Given the description of an element on the screen output the (x, y) to click on. 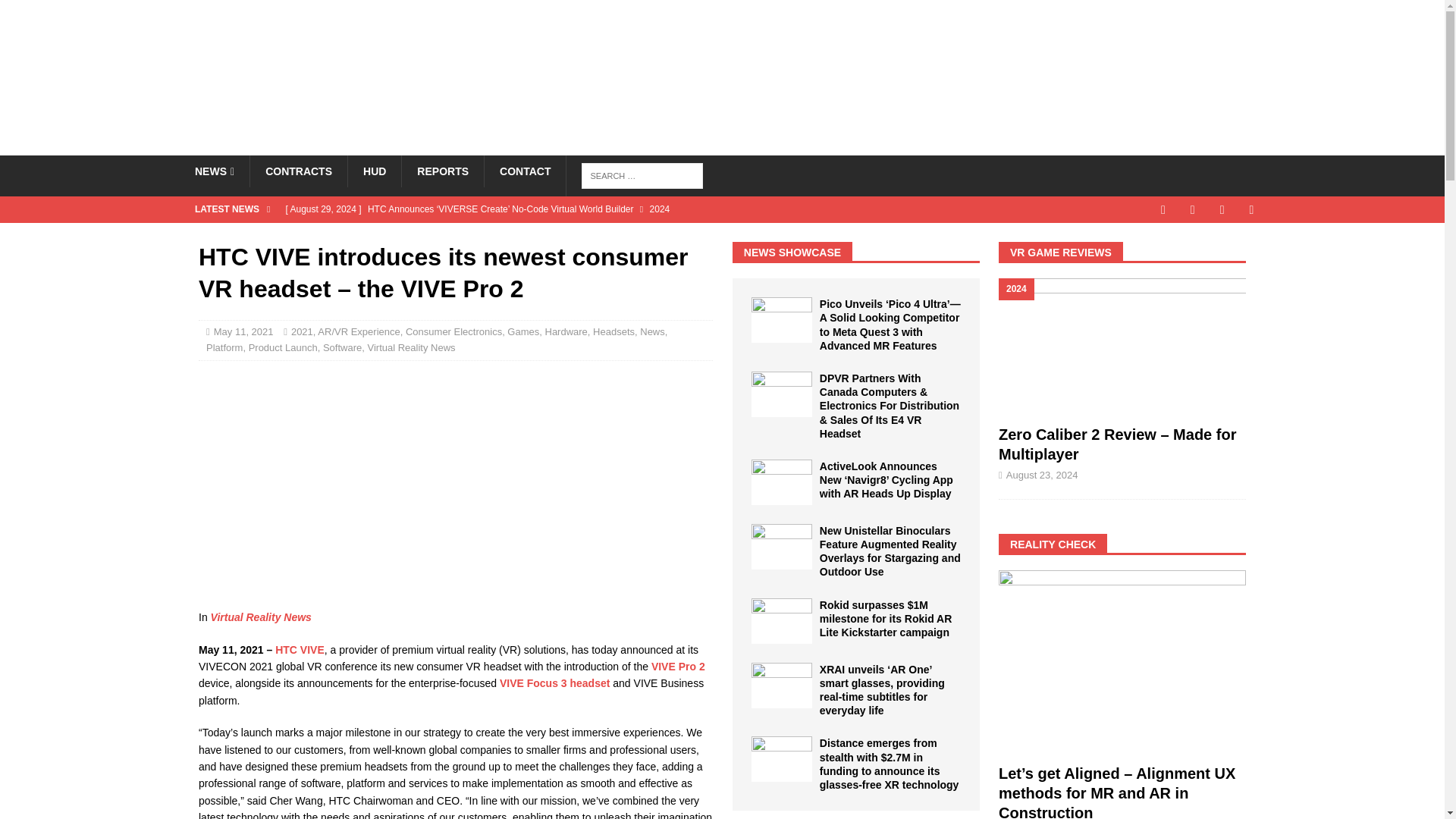
HUD (374, 171)
Games (522, 331)
Software (342, 347)
Consumer Electronics (454, 331)
Virtual Reality News (261, 616)
May 11, 2021 (243, 331)
HTC VIVE (299, 649)
VIVE Pro 2 (677, 666)
Search (56, 11)
REPORTS (442, 171)
